Given the description of an element on the screen output the (x, y) to click on. 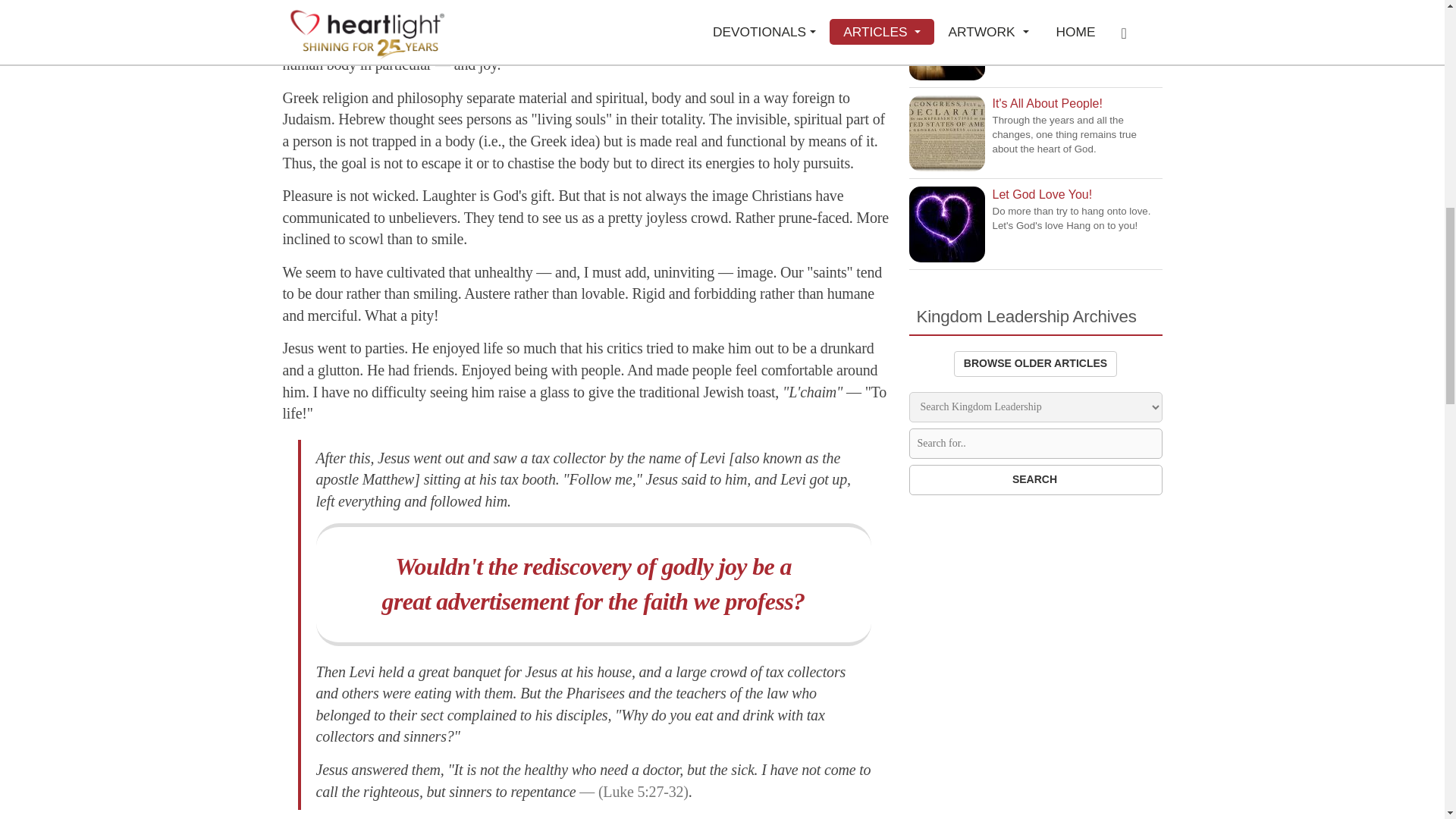
Let God Love You! (946, 224)
Prayer and Mission (946, 42)
Search (1034, 480)
It's All About People! (946, 133)
Search (1034, 480)
